Given the description of an element on the screen output the (x, y) to click on. 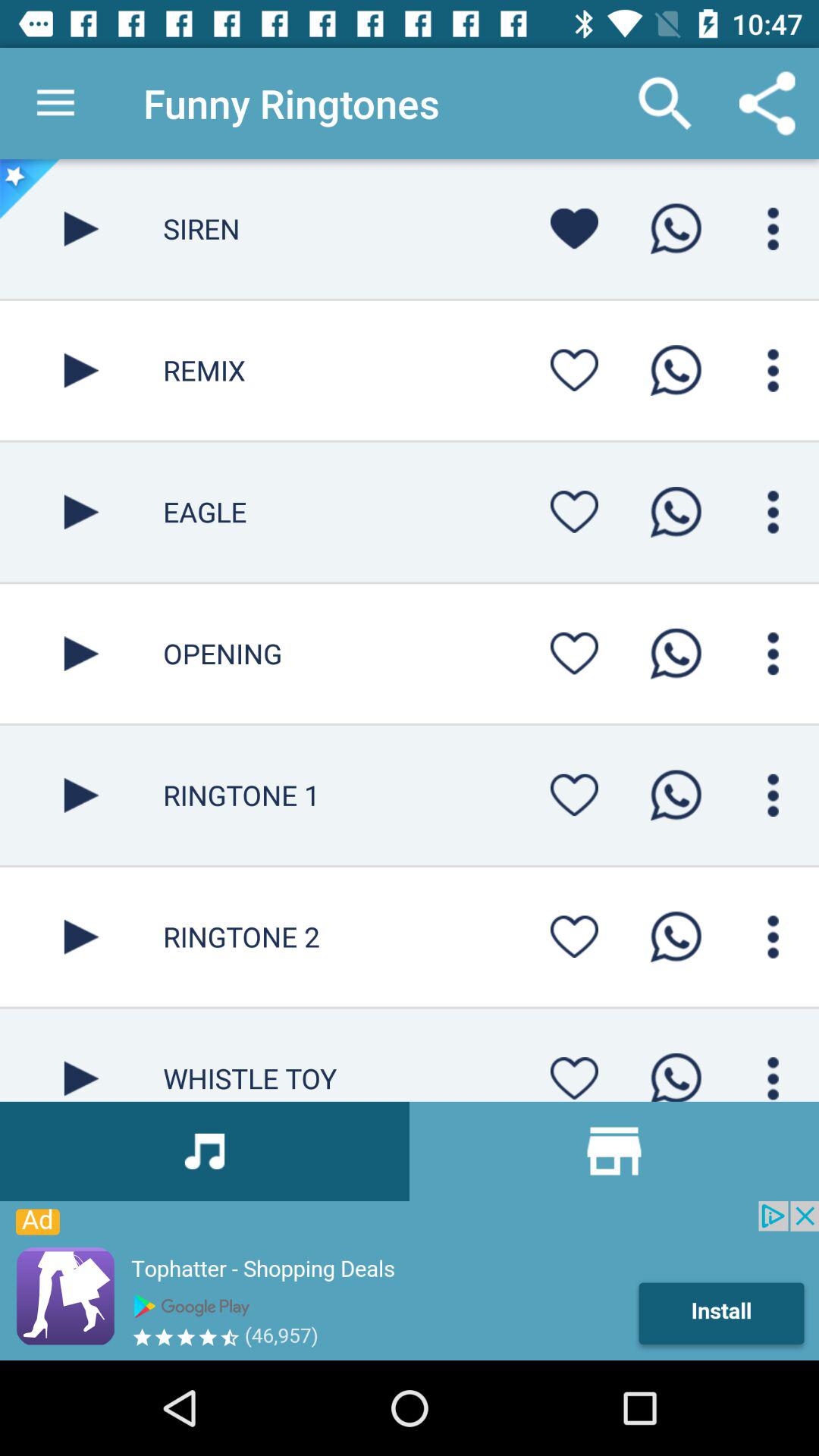
play remix sound (81, 370)
